Given the description of an element on the screen output the (x, y) to click on. 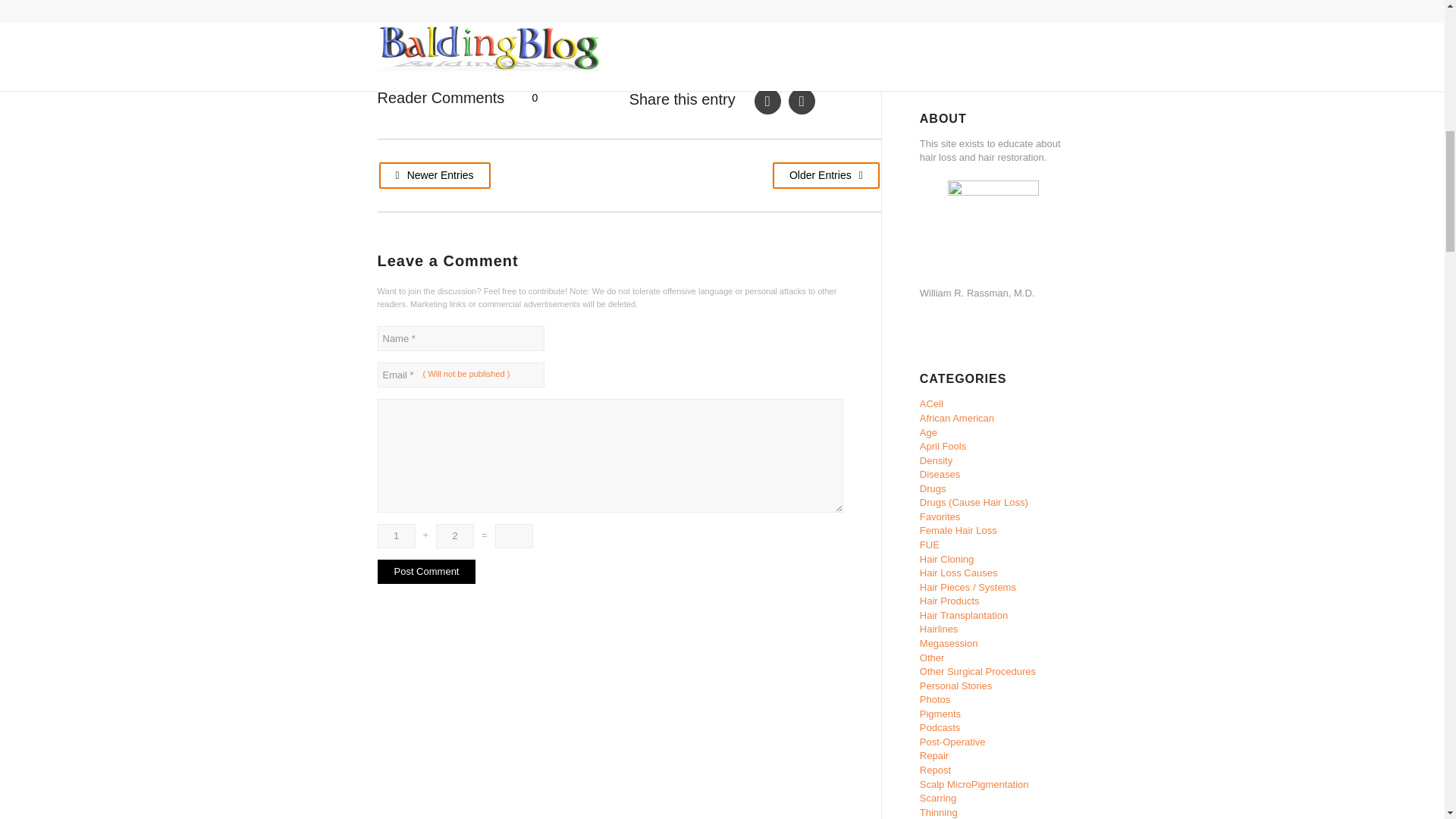
Drugs (933, 488)
Personal Stories (955, 685)
Hair Transplantation (963, 614)
Megasession (949, 643)
Post Comment (426, 571)
Female Hair Loss (958, 530)
Hair Products (949, 600)
Hairlines (939, 628)
2 (454, 535)
Other (932, 657)
Photos (935, 699)
Diseases (939, 473)
Post Comment (426, 571)
Older Entries (826, 175)
